Given the description of an element on the screen output the (x, y) to click on. 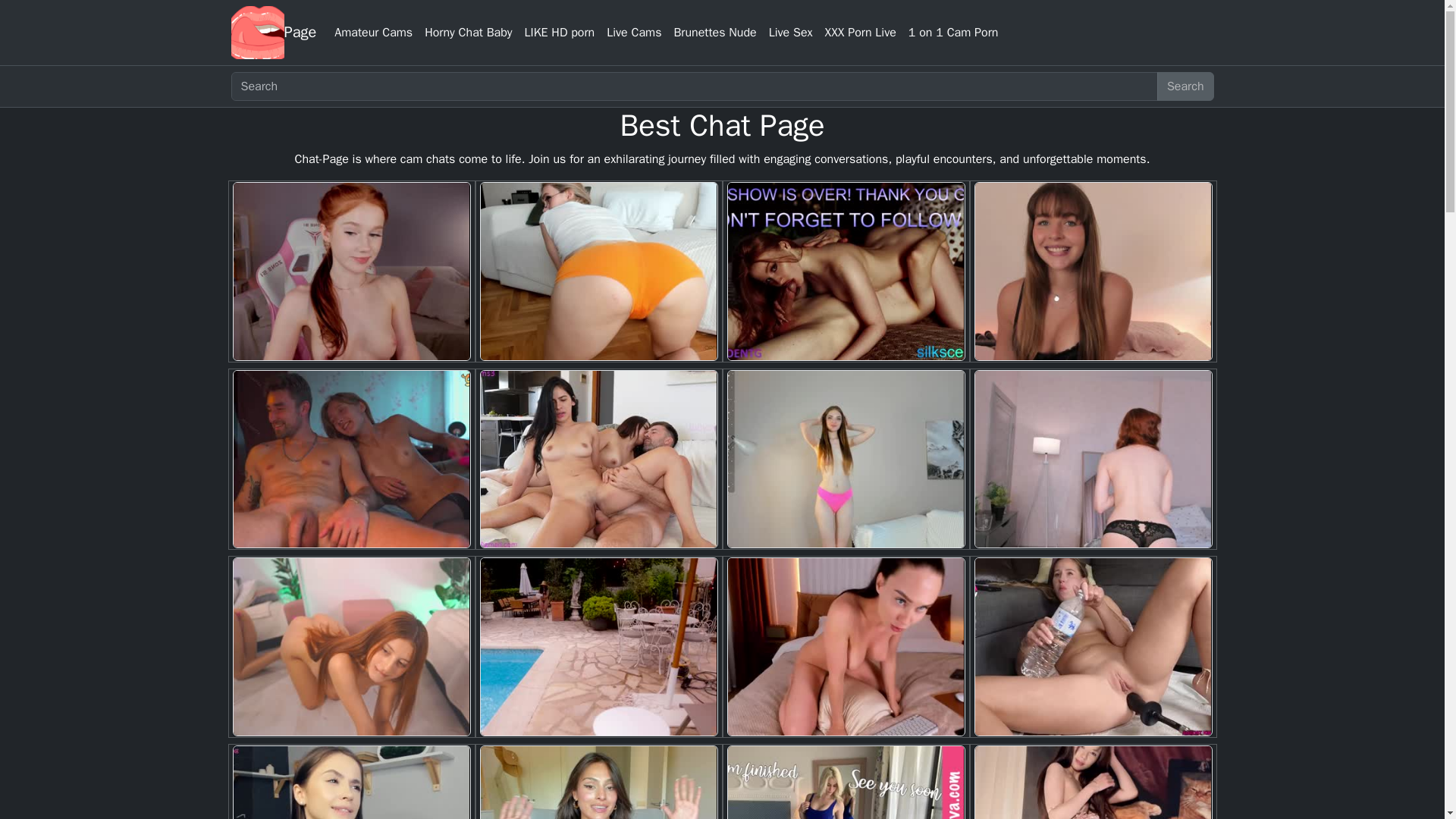
Amateur Cams (374, 32)
LIKE HD porn (559, 32)
Live Sex (790, 32)
1 on 1 Cam Porn (953, 32)
Page (299, 32)
XXX Porn Live (860, 32)
Live Cams (632, 32)
Horny Chat Baby (468, 32)
Brunettes Nude (713, 32)
Search (1185, 86)
